Given the description of an element on the screen output the (x, y) to click on. 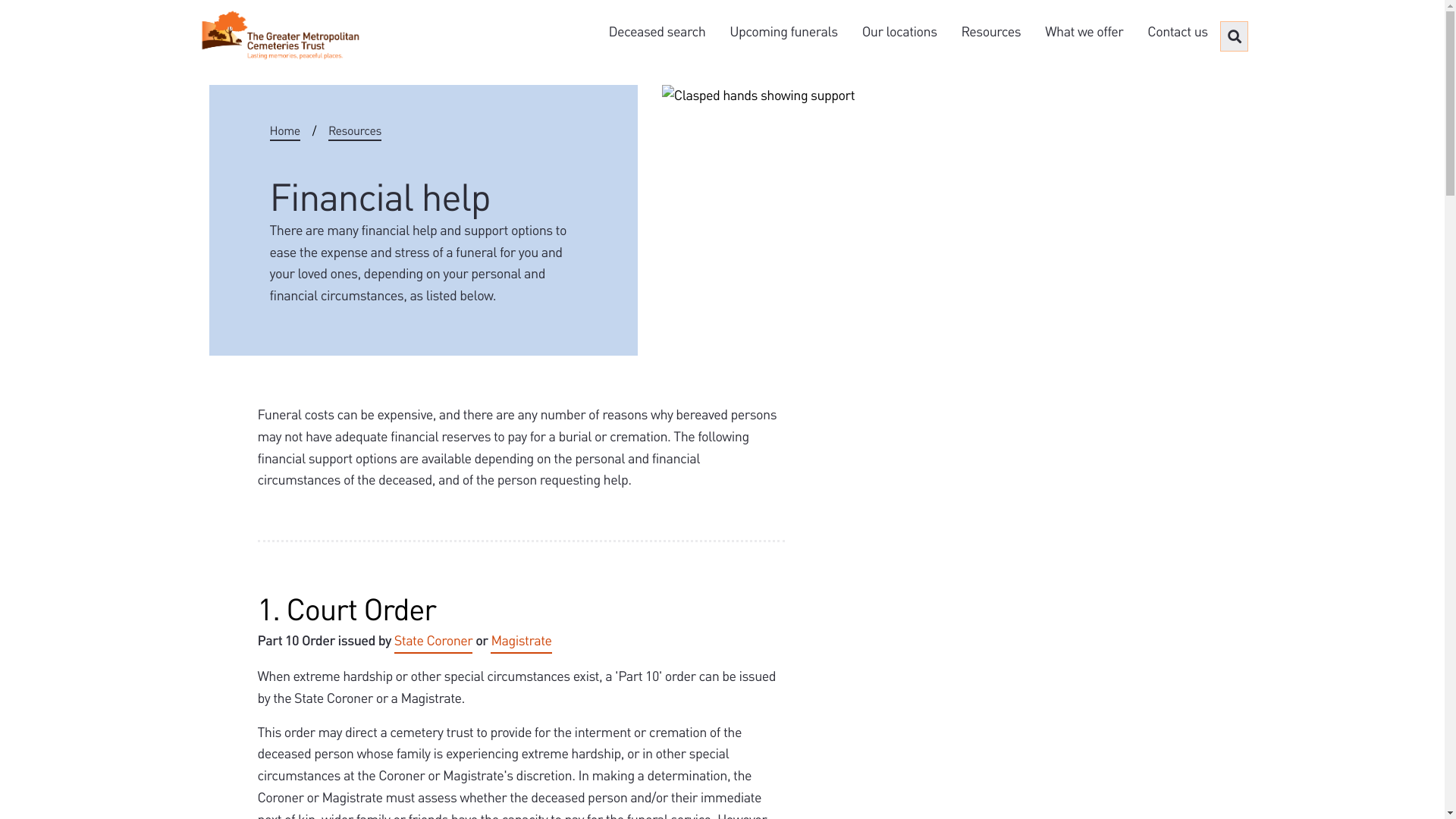
Magistrate Element type: text (520, 641)
Upcoming funerals Element type: text (783, 32)
State Coroner Element type: text (433, 641)
Resources Element type: text (991, 32)
Contact us Element type: text (1177, 32)
What we offer Element type: text (1083, 32)
Deceased search Element type: text (656, 32)
Resources Element type: text (354, 131)
Our locations Element type: text (899, 32)
Home Element type: text (284, 131)
